Given the description of an element on the screen output the (x, y) to click on. 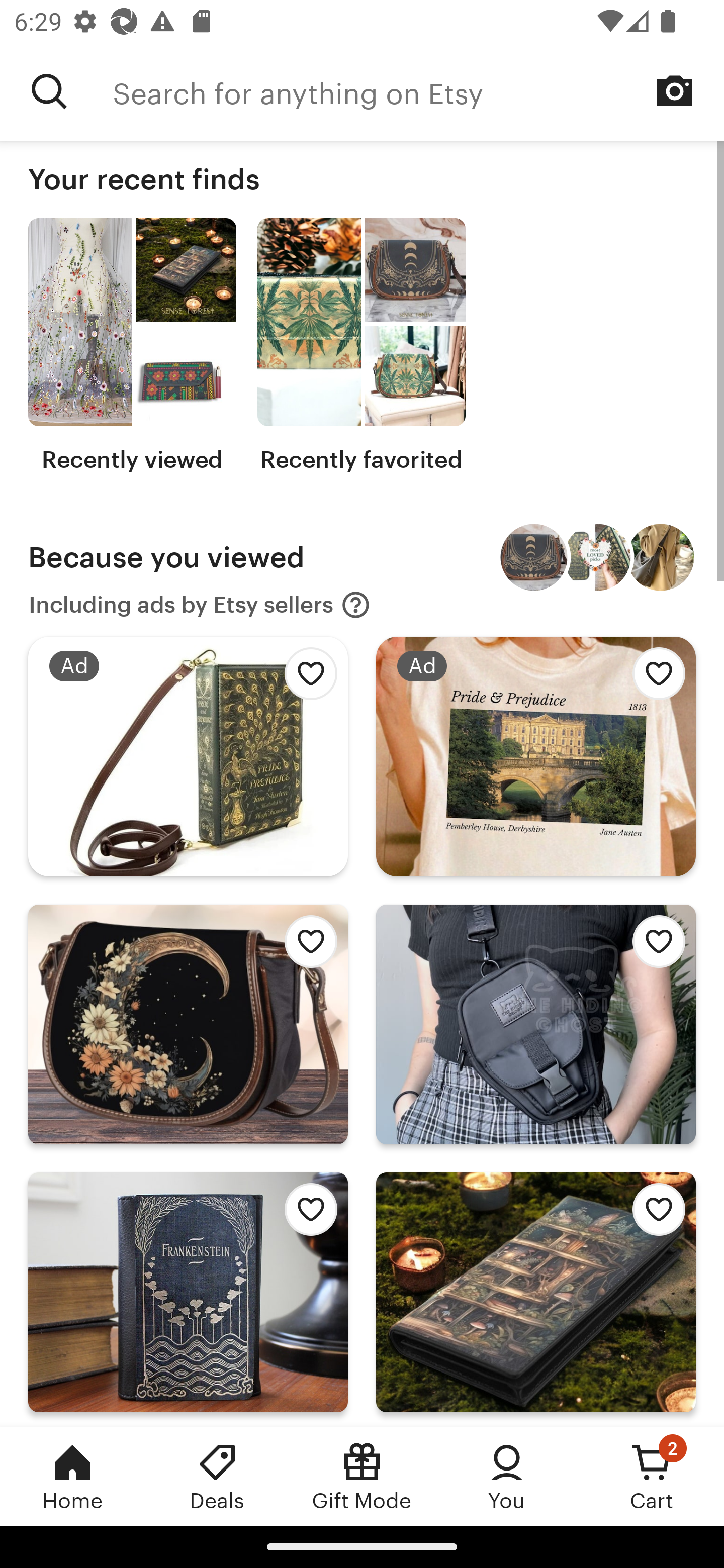
Search for anything on Etsy (49, 91)
Search by image (674, 90)
Search for anything on Etsy (418, 91)
Recently viewed (132, 345)
Recently favorited (361, 345)
Including ads by Etsy sellers (199, 604)
Deals (216, 1475)
Gift Mode (361, 1475)
You (506, 1475)
Cart, 2 new notifications Cart (651, 1475)
